Given the description of an element on the screen output the (x, y) to click on. 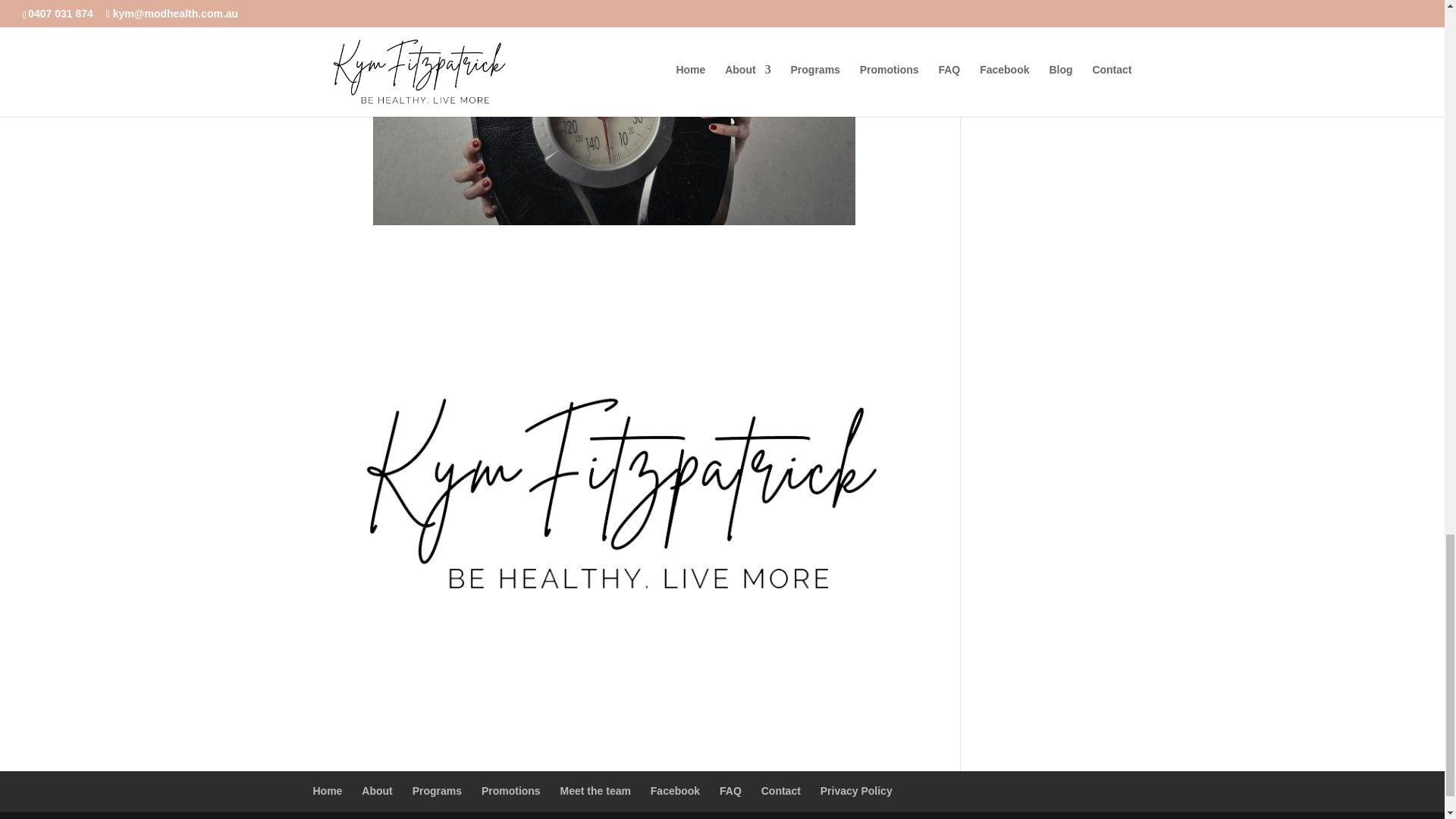
Home (327, 790)
pexels-andrea-piacquadio-3775540 (614, 112)
Facebook (675, 790)
Contact (780, 790)
FAQ (730, 790)
Programs (436, 790)
Promotions (510, 790)
About (376, 790)
Privacy Policy (856, 790)
Meet the team (595, 790)
